Given the description of an element on the screen output the (x, y) to click on. 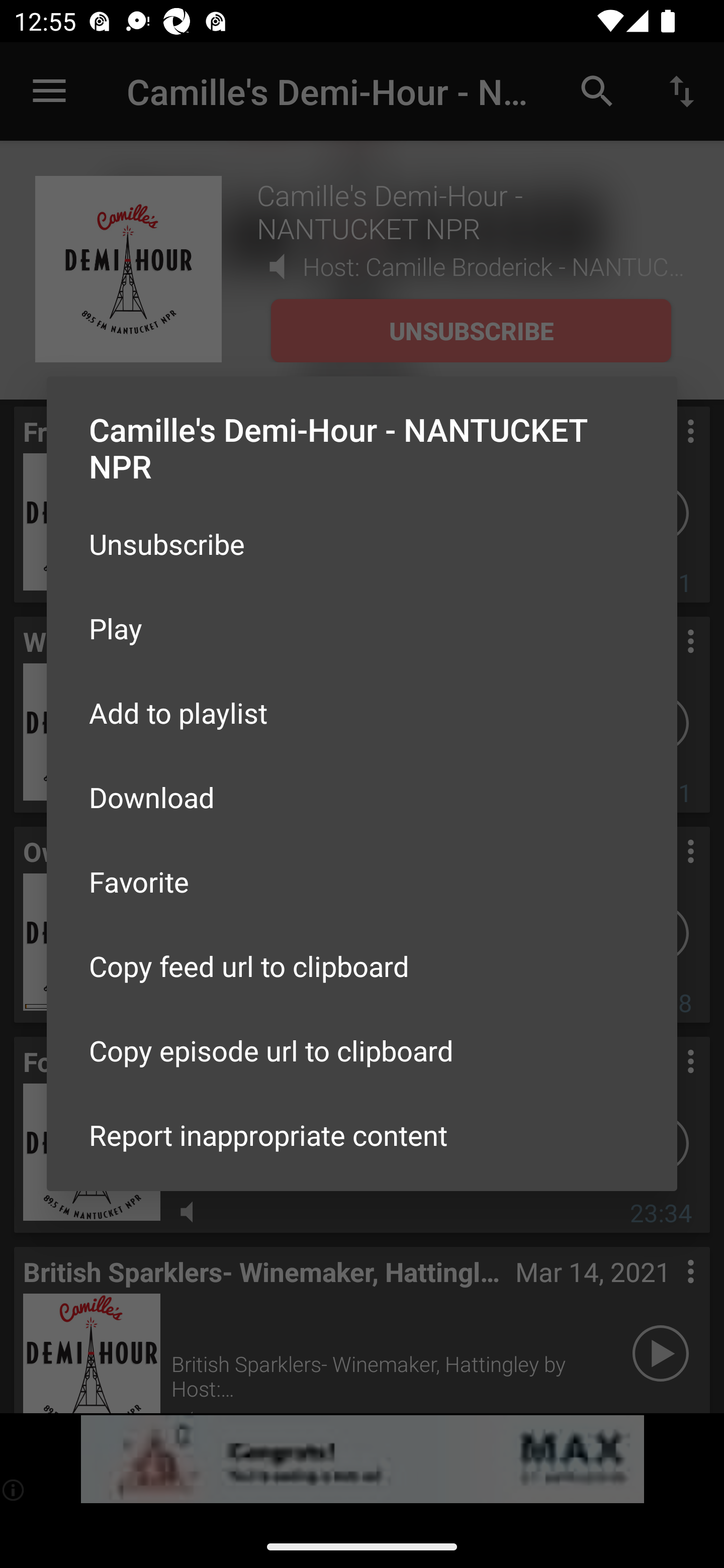
Unsubscribe (361, 543)
Play (361, 628)
Add to playlist (361, 712)
Download (361, 796)
Favorite (361, 880)
Copy feed url to clipboard (361, 965)
Copy episode url to clipboard (361, 1050)
Report inappropriate content (361, 1134)
